Given the description of an element on the screen output the (x, y) to click on. 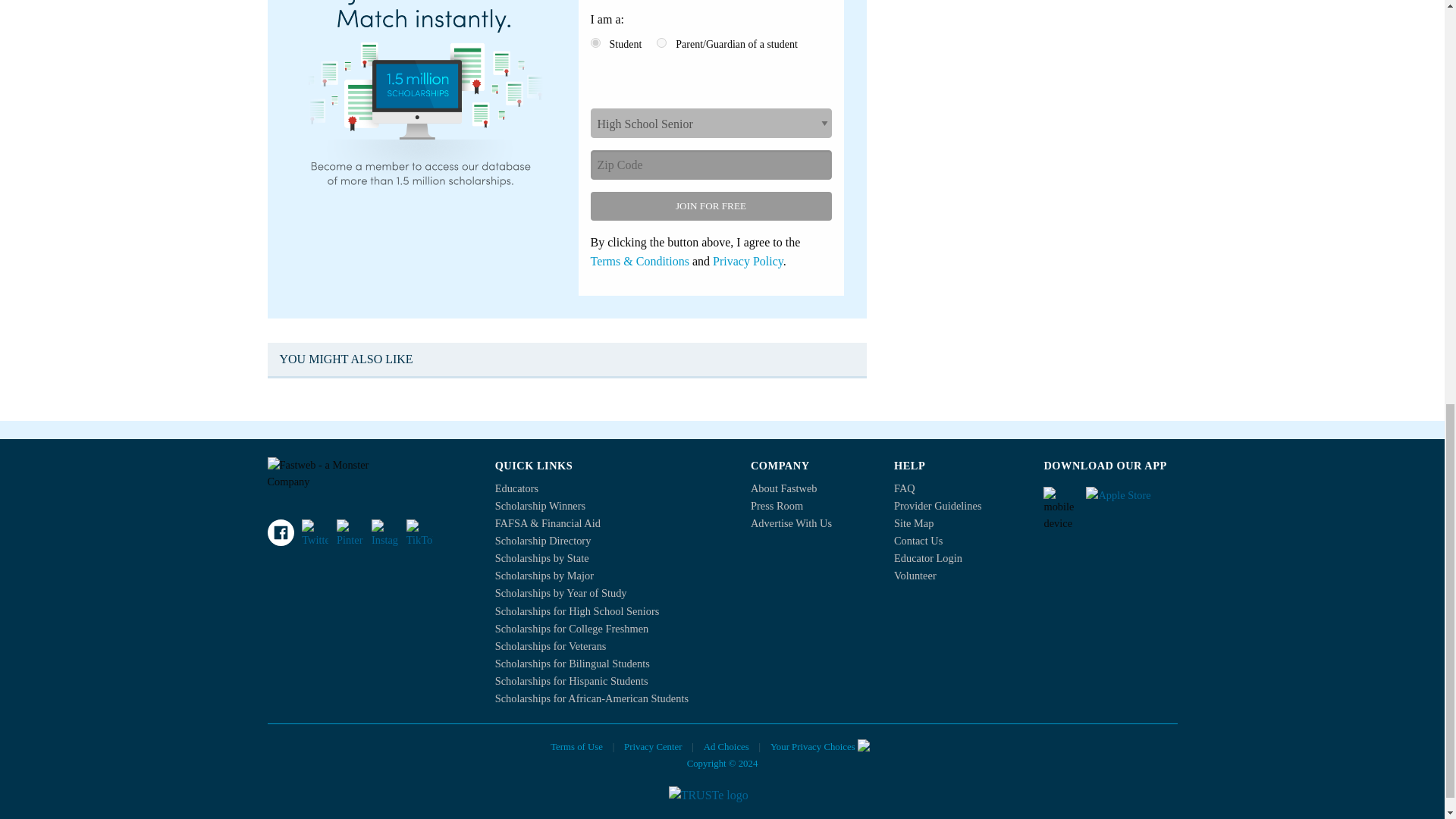
Fastweb on Pinterest (349, 532)
Fastweb on Facebook (280, 532)
Fastweb on IOS (1131, 500)
Fastweb on TikTok (419, 532)
2 (661, 42)
Fastweb on Instagram (384, 532)
Join for free (710, 205)
1 (594, 42)
